Given the description of an element on the screen output the (x, y) to click on. 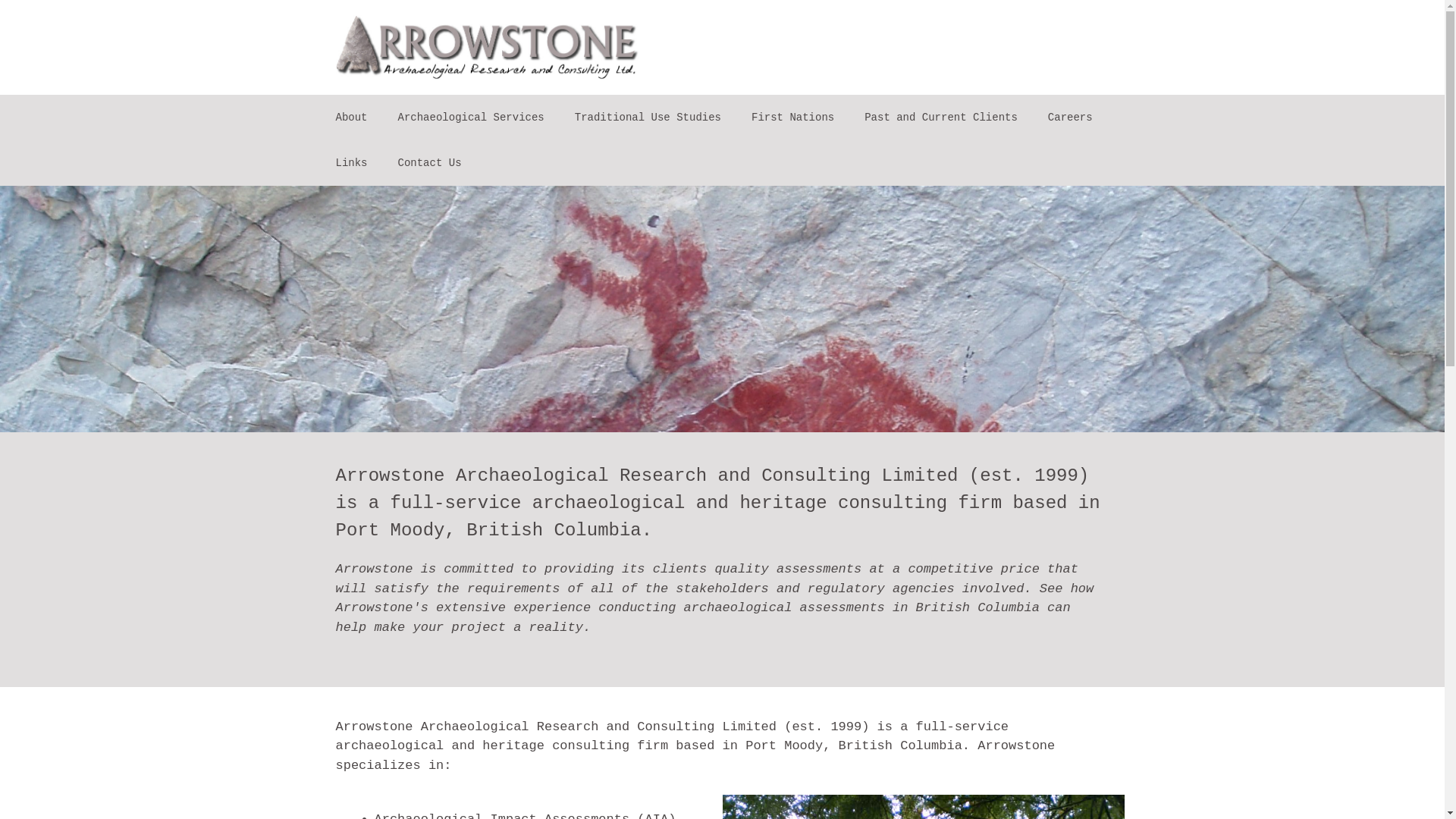
Past and Current Clients Element type: text (940, 117)
Links Element type: text (351, 162)
Contact Us Element type: text (429, 162)
First Nations Element type: text (792, 117)
About Element type: text (351, 117)
Traditional Use Studies Element type: text (647, 117)
Careers Element type: text (1069, 117)
Archaeological Services Element type: text (470, 117)
